Given the description of an element on the screen output the (x, y) to click on. 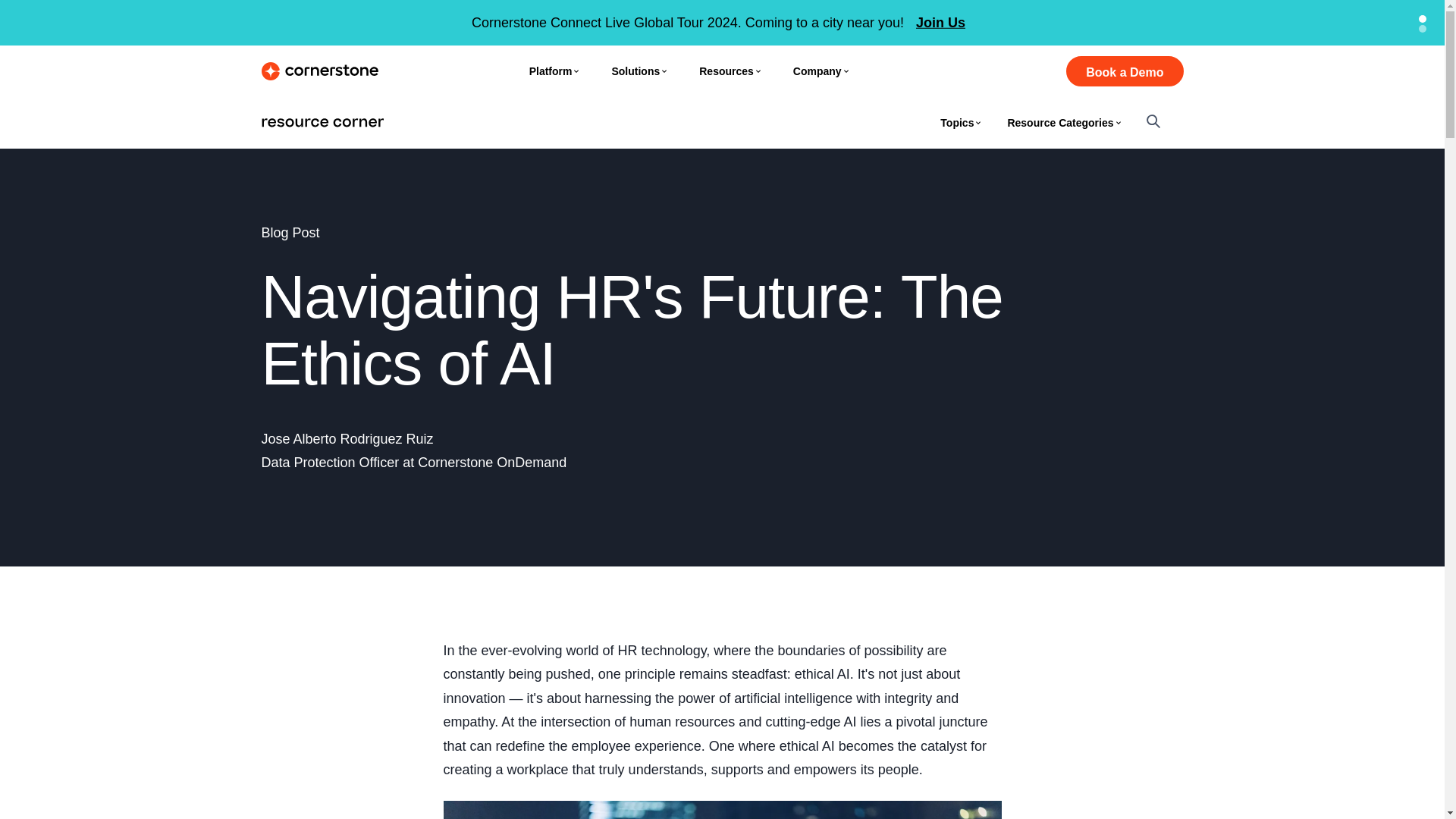
Join Us (940, 22)
